Given the description of an element on the screen output the (x, y) to click on. 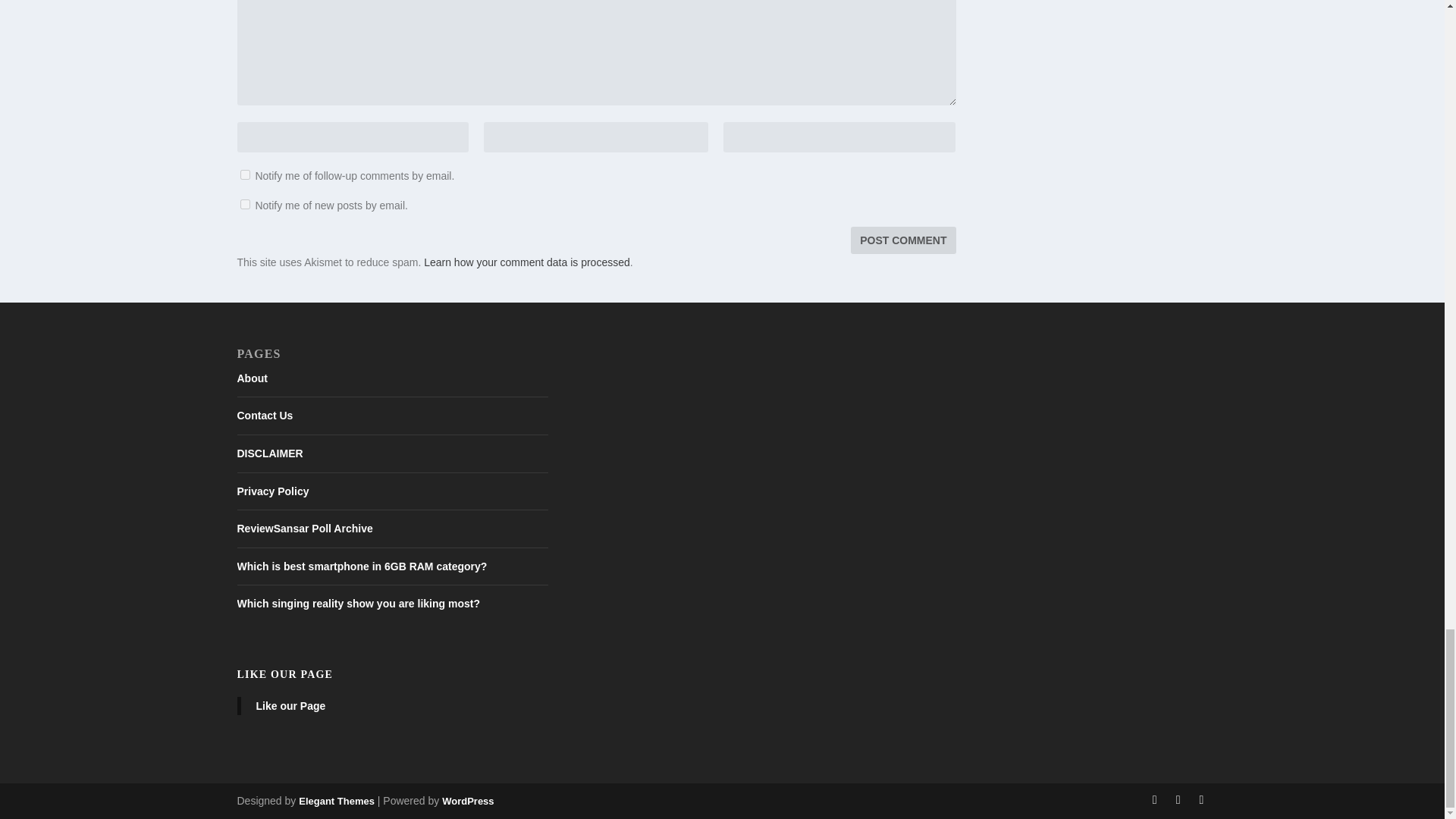
Post Comment (902, 239)
subscribe (244, 204)
subscribe (244, 174)
